Given the description of an element on the screen output the (x, y) to click on. 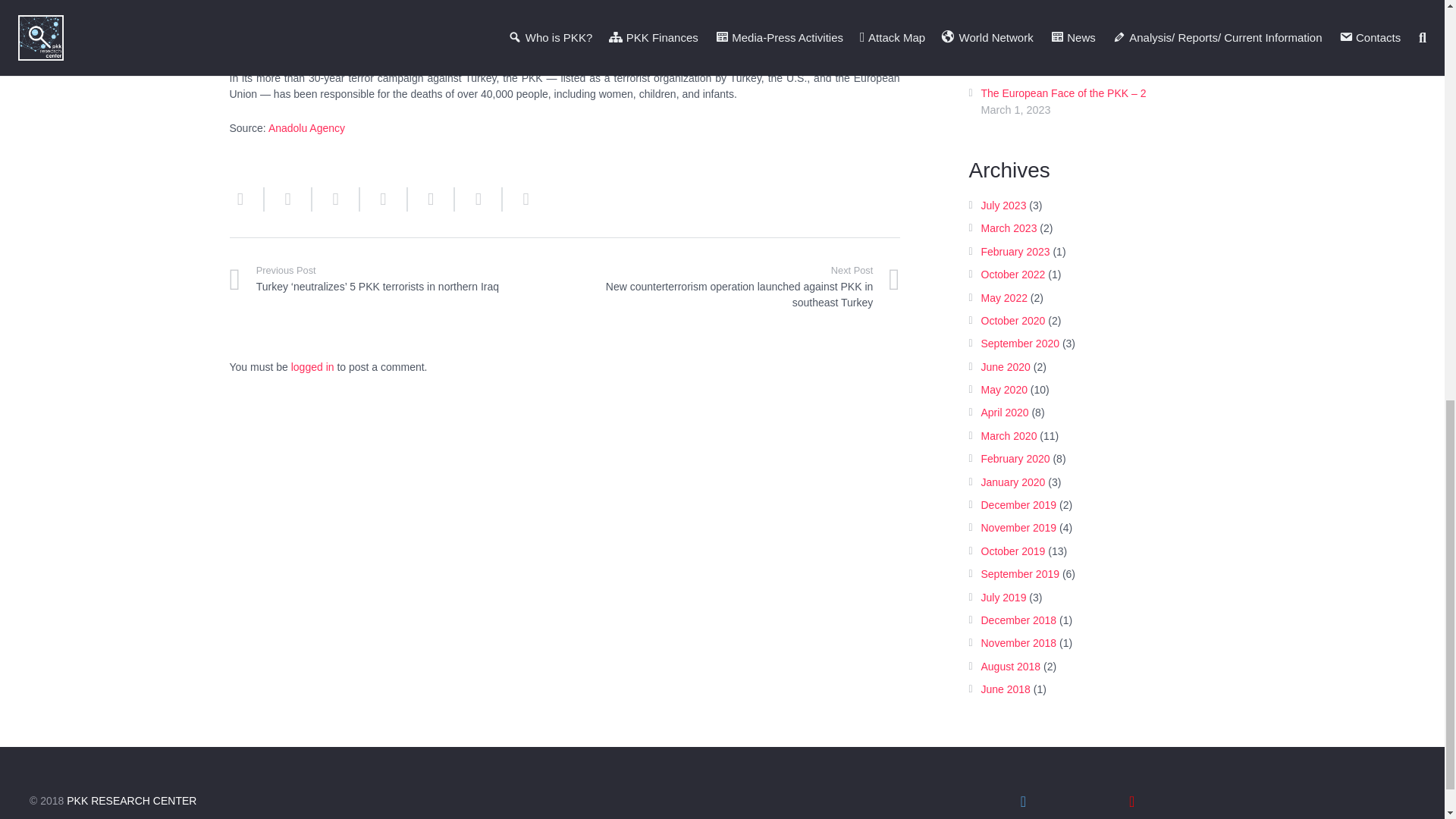
Pin this (478, 198)
Back to top (1413, 30)
Share this (431, 198)
Share this (383, 198)
logged in (312, 367)
Share this (288, 198)
Email this (246, 198)
Tweet this (336, 198)
Share this (519, 198)
